Given the description of an element on the screen output the (x, y) to click on. 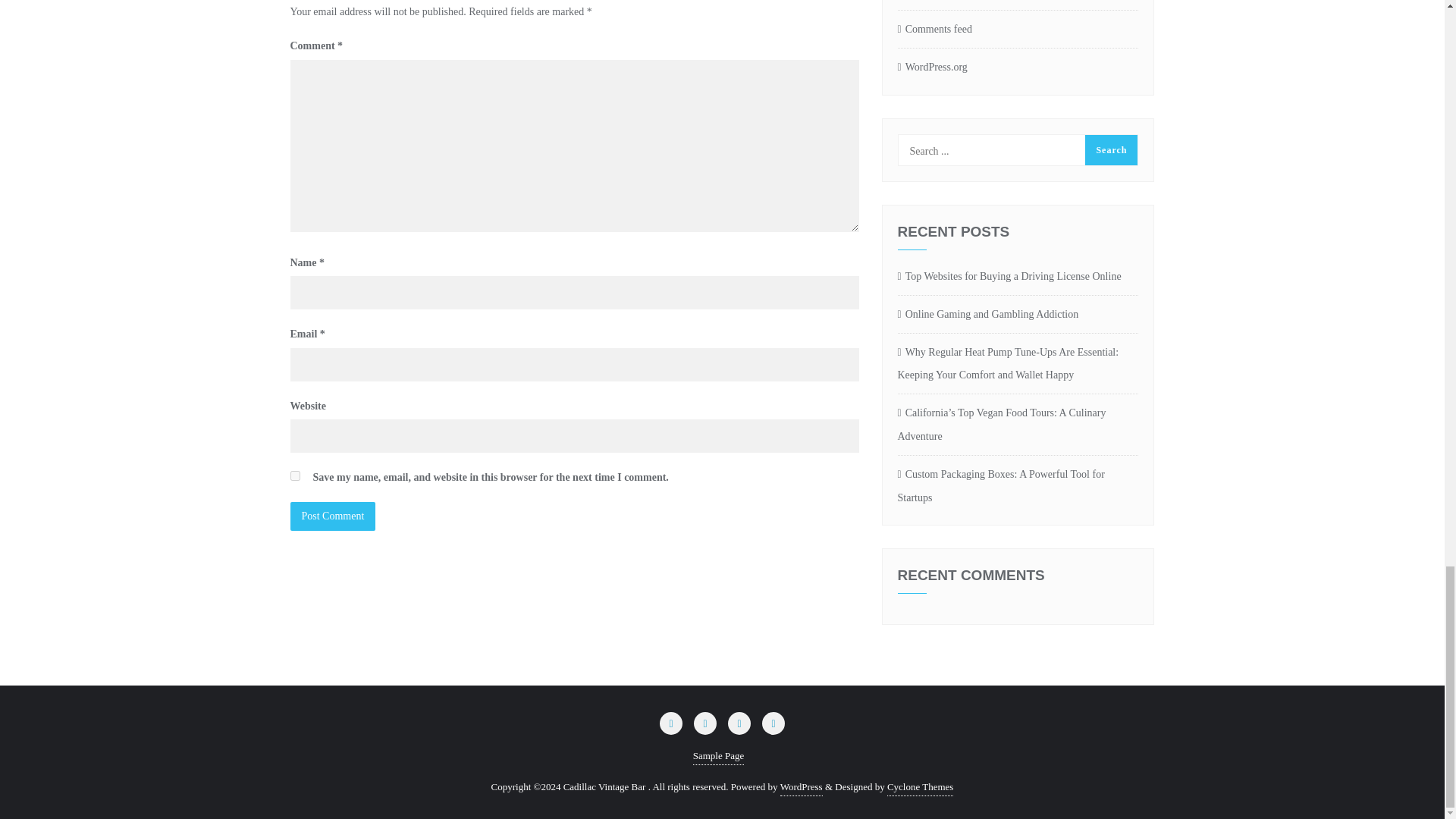
Search (1110, 150)
Search (1110, 150)
Post Comment (332, 516)
Post Comment (332, 516)
yes (294, 475)
